Given the description of an element on the screen output the (x, y) to click on. 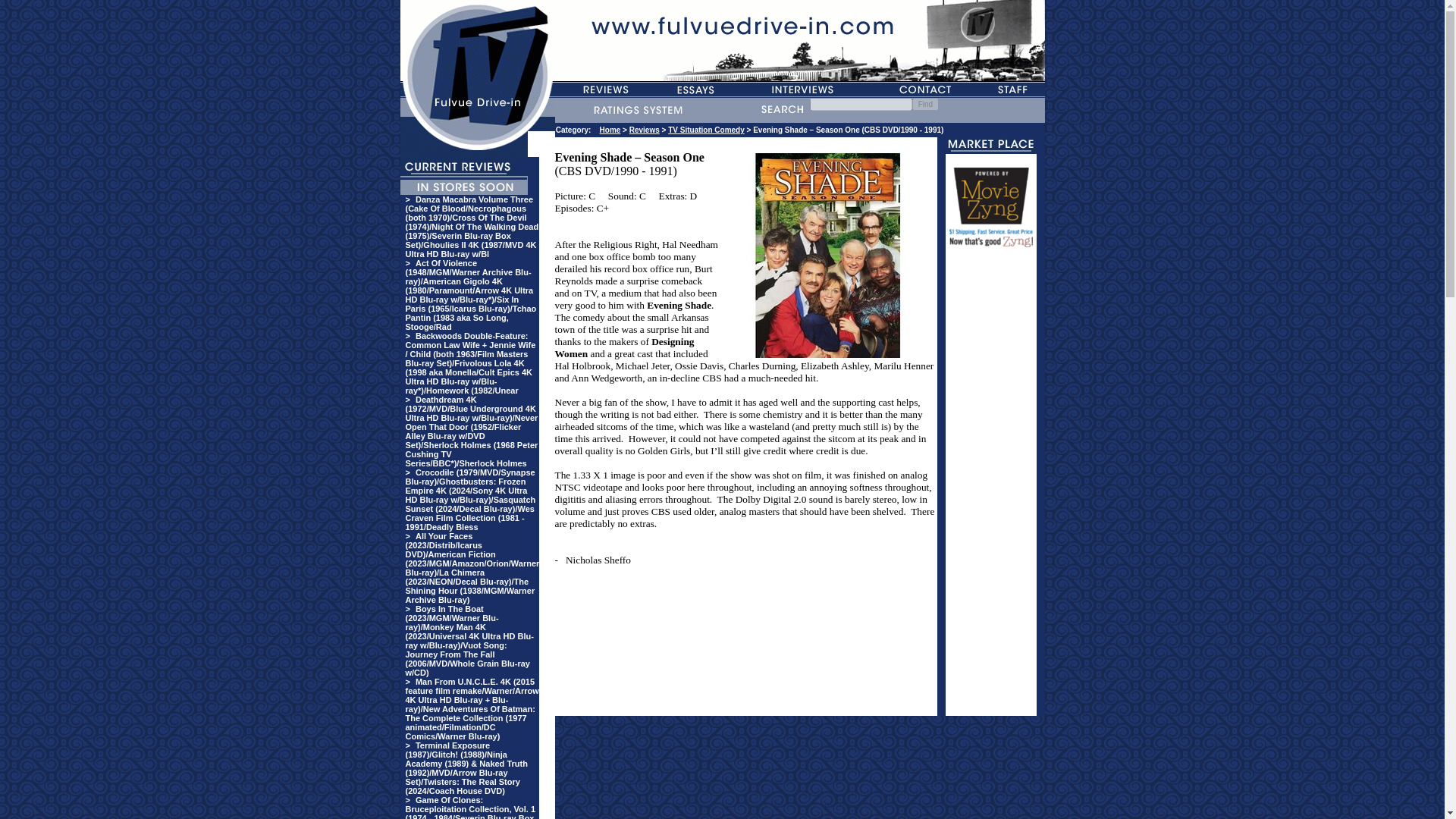
Find (925, 103)
Find (925, 103)
Reviews (643, 130)
Home (610, 130)
